Given the description of an element on the screen output the (x, y) to click on. 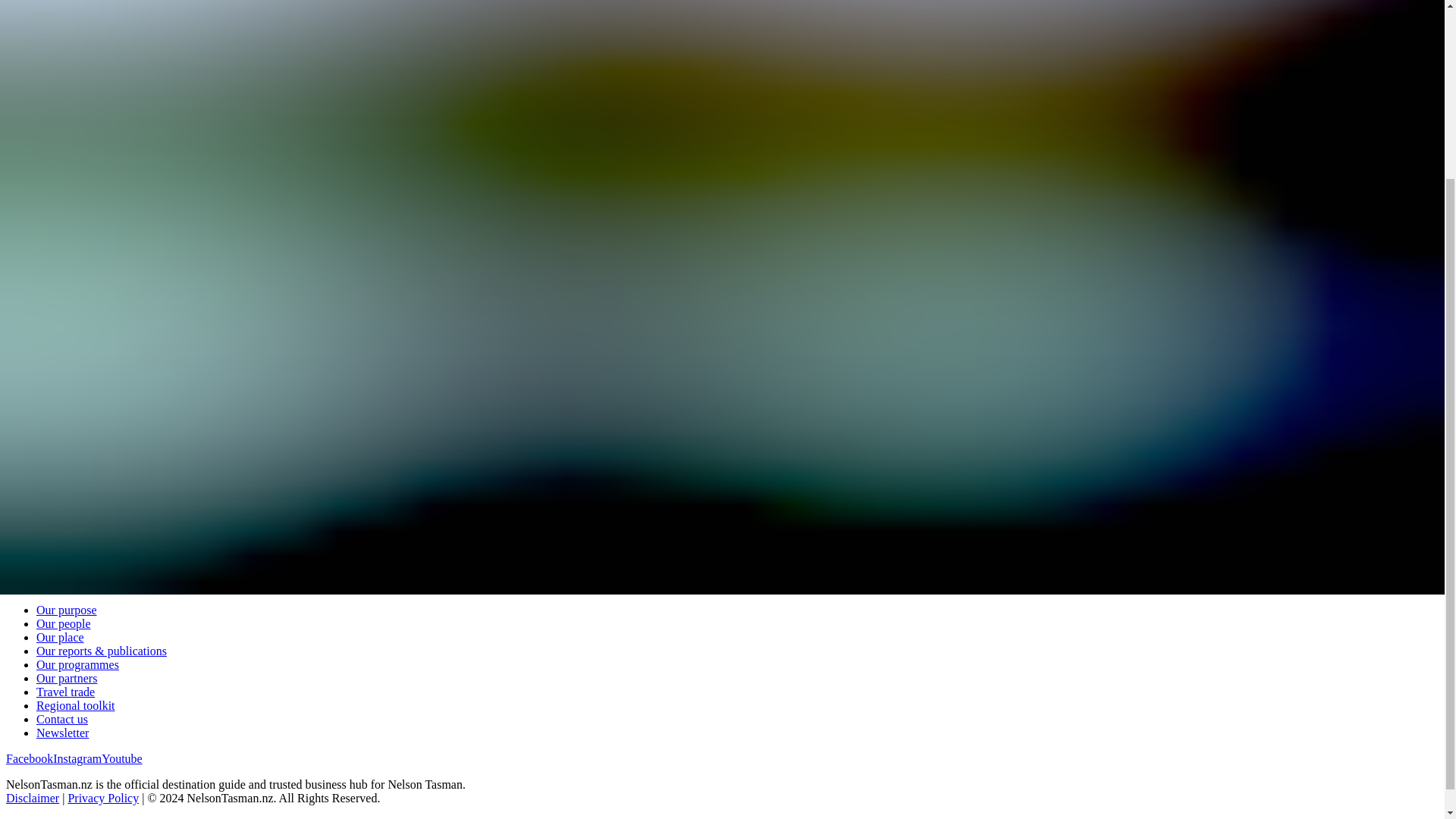
Investment in action (85, 410)
Business events (74, 523)
About us (58, 40)
Home (50, 6)
Things to do (66, 169)
Events (52, 210)
Plan your event (74, 537)
Business support (77, 437)
Plan your trip (69, 237)
Study here (62, 324)
Places to go (65, 183)
Major events (68, 510)
Explore (29, 141)
Living here (64, 297)
Do business (41, 354)
